Given the description of an element on the screen output the (x, y) to click on. 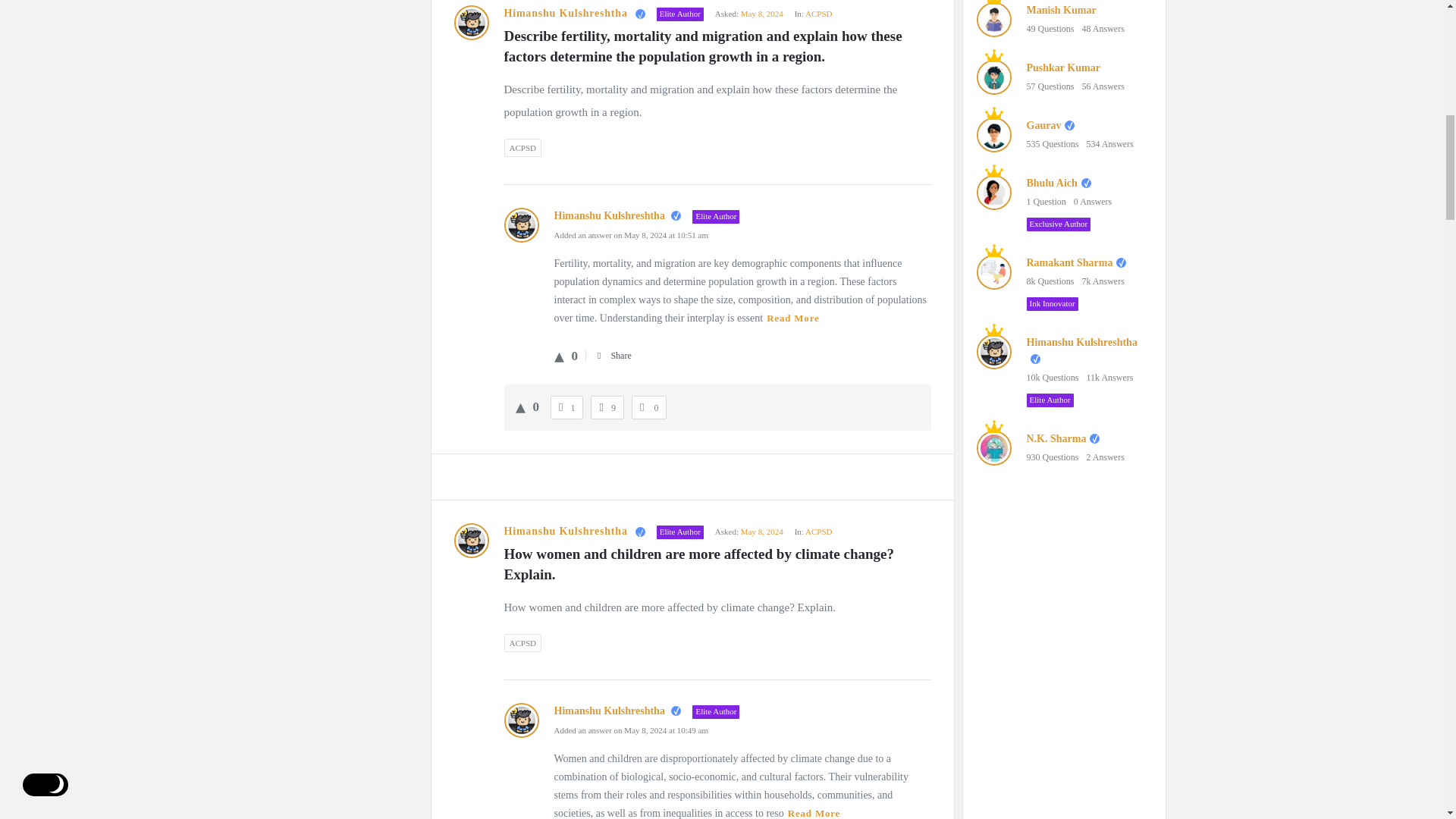
Read more (792, 318)
Follow the question (649, 407)
Himanshu Kulshreshtha (470, 22)
